Given the description of an element on the screen output the (x, y) to click on. 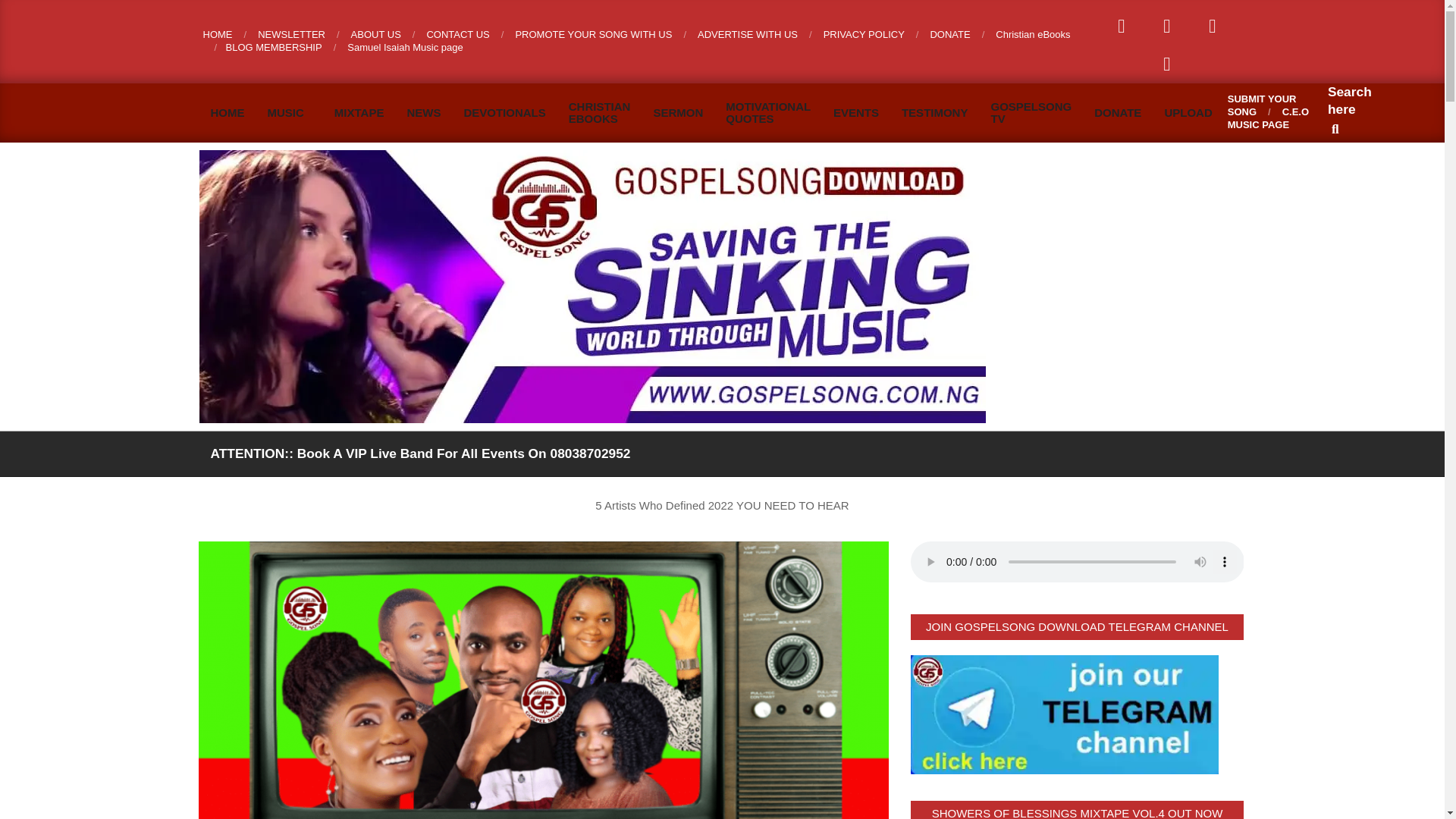
HOME (227, 112)
EVENTS (855, 112)
PROMOTE YOUR SONG WITH US (593, 34)
MOTIVATIONAL QUOTES (768, 112)
CHRISTIAN EBOOKS (599, 112)
DONATE (949, 34)
UPLOAD (1188, 112)
ADVERTISE WITH US (747, 34)
MIXTAPE (359, 112)
CONTACT US (457, 34)
